Given the description of an element on the screen output the (x, y) to click on. 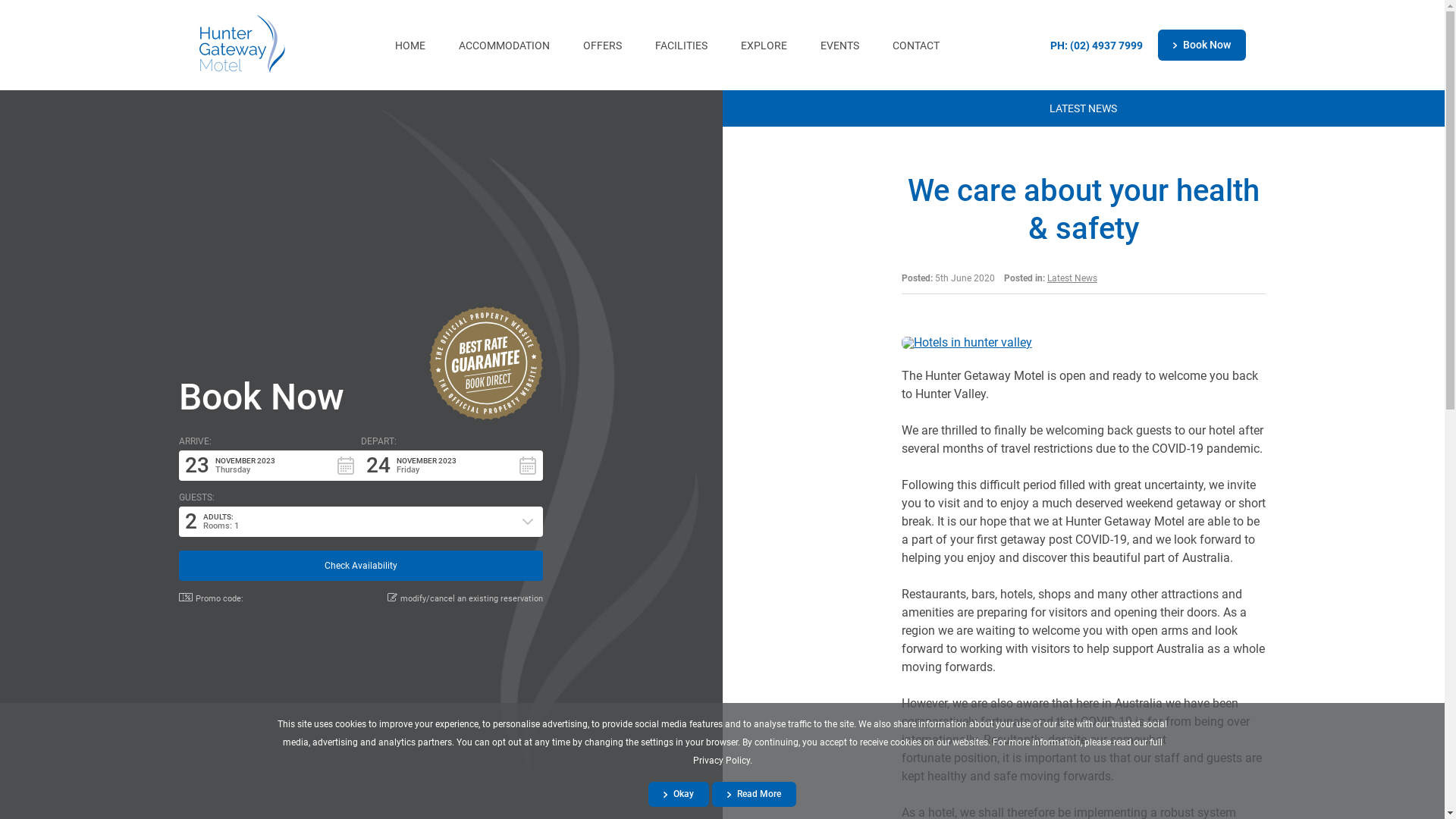
CONTACT Element type: text (915, 45)
Okay Element type: text (678, 793)
Book Now Element type: text (1201, 44)
LATEST NEWS Element type: text (1083, 108)
FACILITIES Element type: text (681, 45)
Promo code: Element type: text (210, 597)
modify/cancel an existing reservation Element type: text (464, 597)
OFFERS Element type: text (602, 45)
EXPLORE Element type: text (763, 45)
PH: (02) 4937 7999 Element type: text (1095, 45)
ACCOMMODATION Element type: text (504, 45)
Read More Element type: text (754, 793)
Book Now Element type: text (261, 396)
HOME Element type: text (410, 45)
EVENTS Element type: text (839, 45)
Latest News Element type: text (1072, 278)
